Given the description of an element on the screen output the (x, y) to click on. 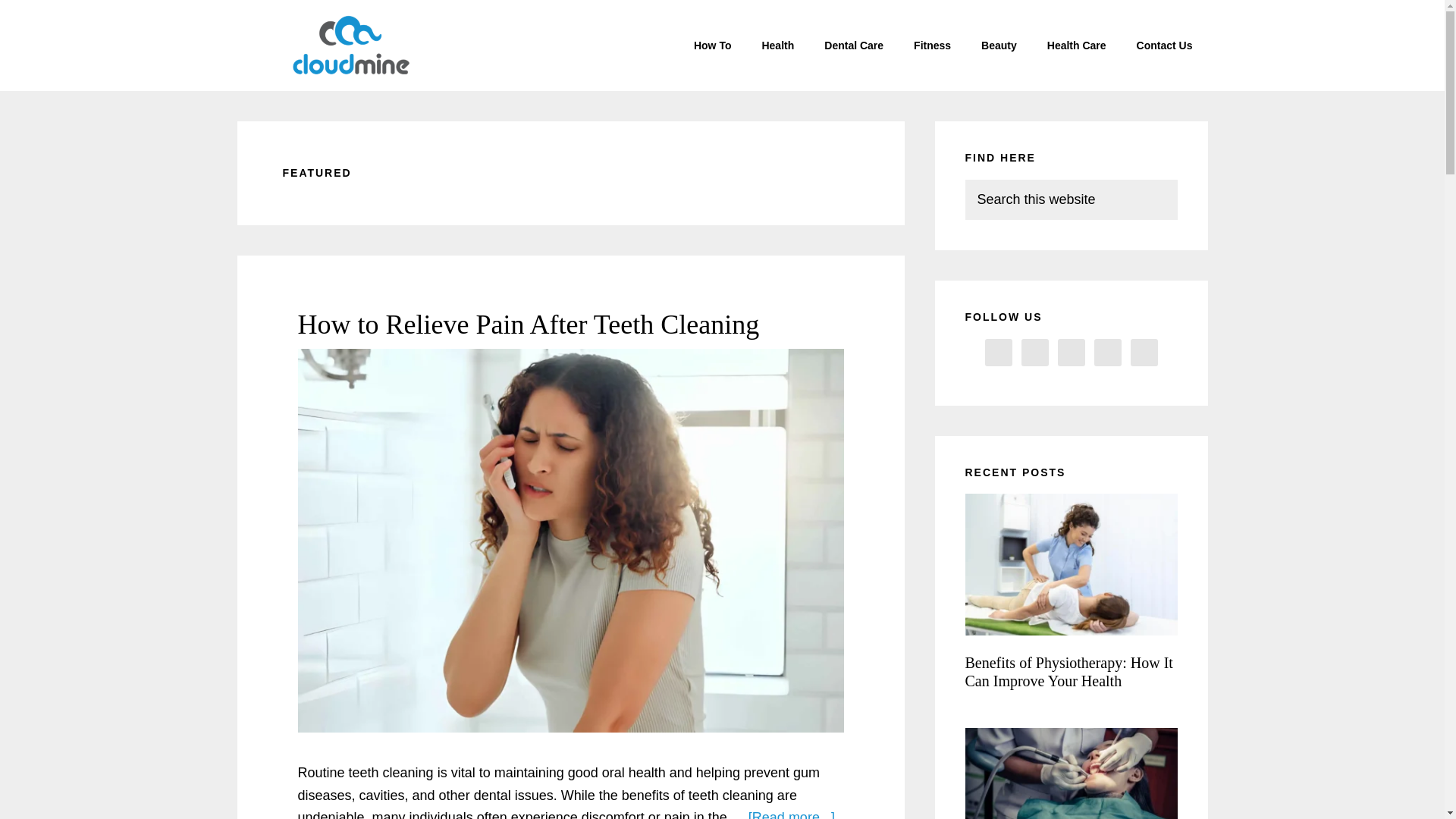
How to Relieve Pain After Teeth Cleaning (527, 324)
How To (712, 45)
Contact Us (1164, 45)
Beauty (999, 45)
Health (777, 45)
Dental Care (853, 45)
Fitness (932, 45)
CloudMineInc (349, 45)
Health Care (1076, 45)
